Given the description of an element on the screen output the (x, y) to click on. 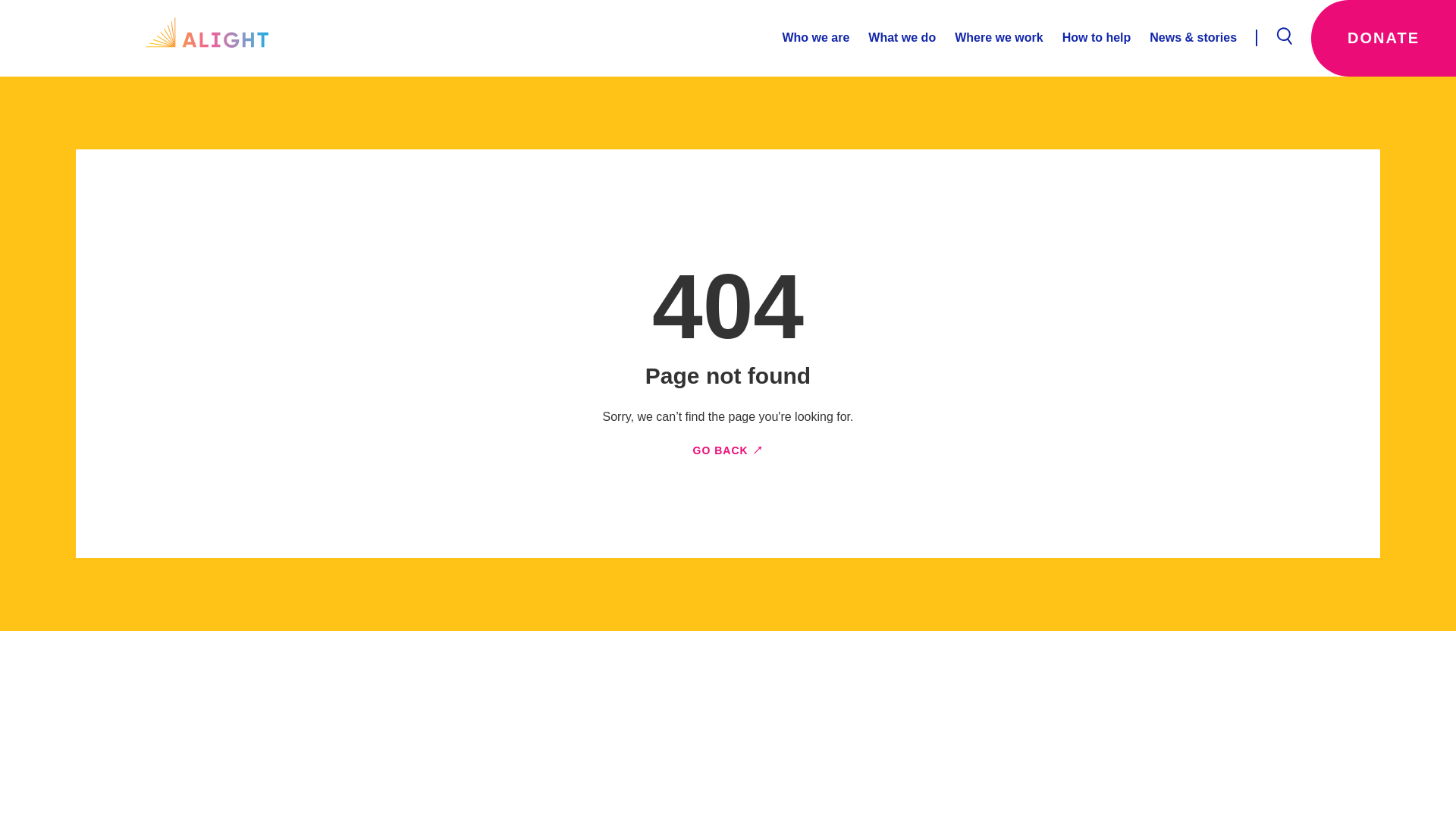
Where we work (989, 37)
Who we are (814, 37)
What we do (892, 37)
